Given the description of an element on the screen output the (x, y) to click on. 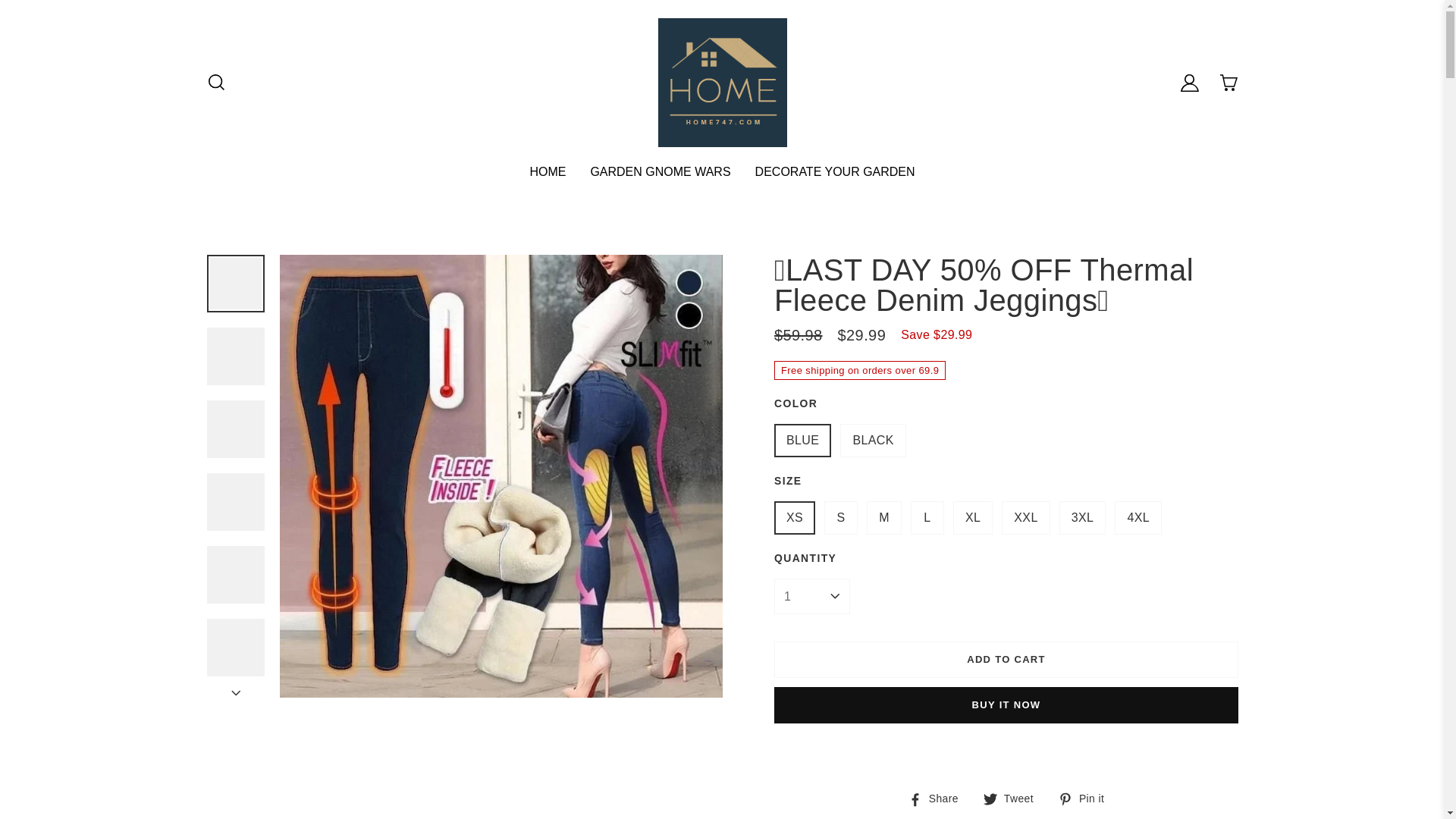
PayPal (1005, 750)
BUY IT NOW (1005, 705)
DECORATE YOUR GARDEN (835, 171)
Pin it (1080, 798)
GARDEN GNOME WARS (659, 171)
Tweet (1007, 798)
ADD TO CART (1005, 659)
Share (932, 798)
